Given the description of an element on the screen output the (x, y) to click on. 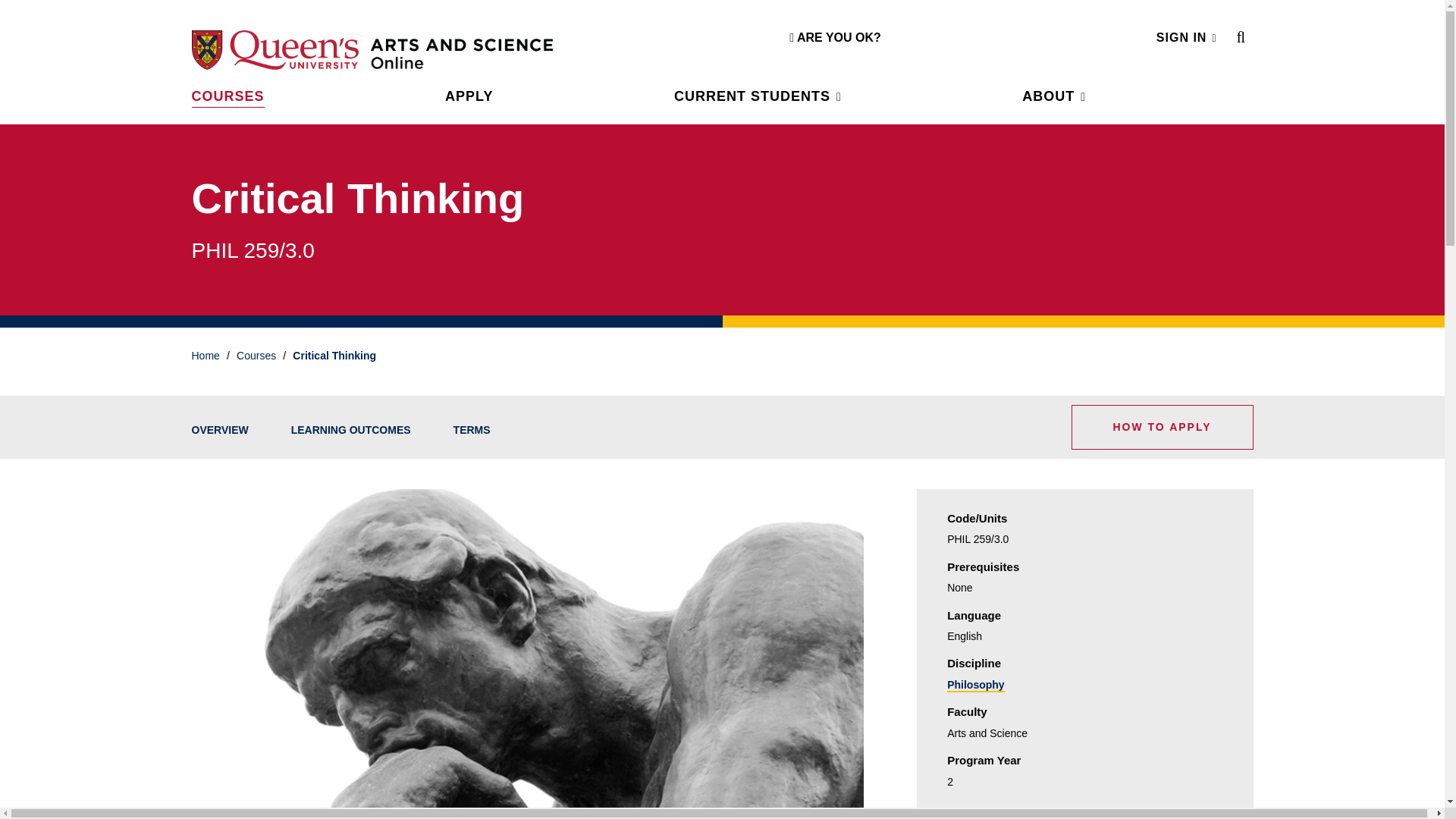
Home (462, 53)
ARE YOU OK? (834, 37)
APPLY (469, 95)
COURSES (226, 97)
Queen's University (274, 49)
